Given the description of an element on the screen output the (x, y) to click on. 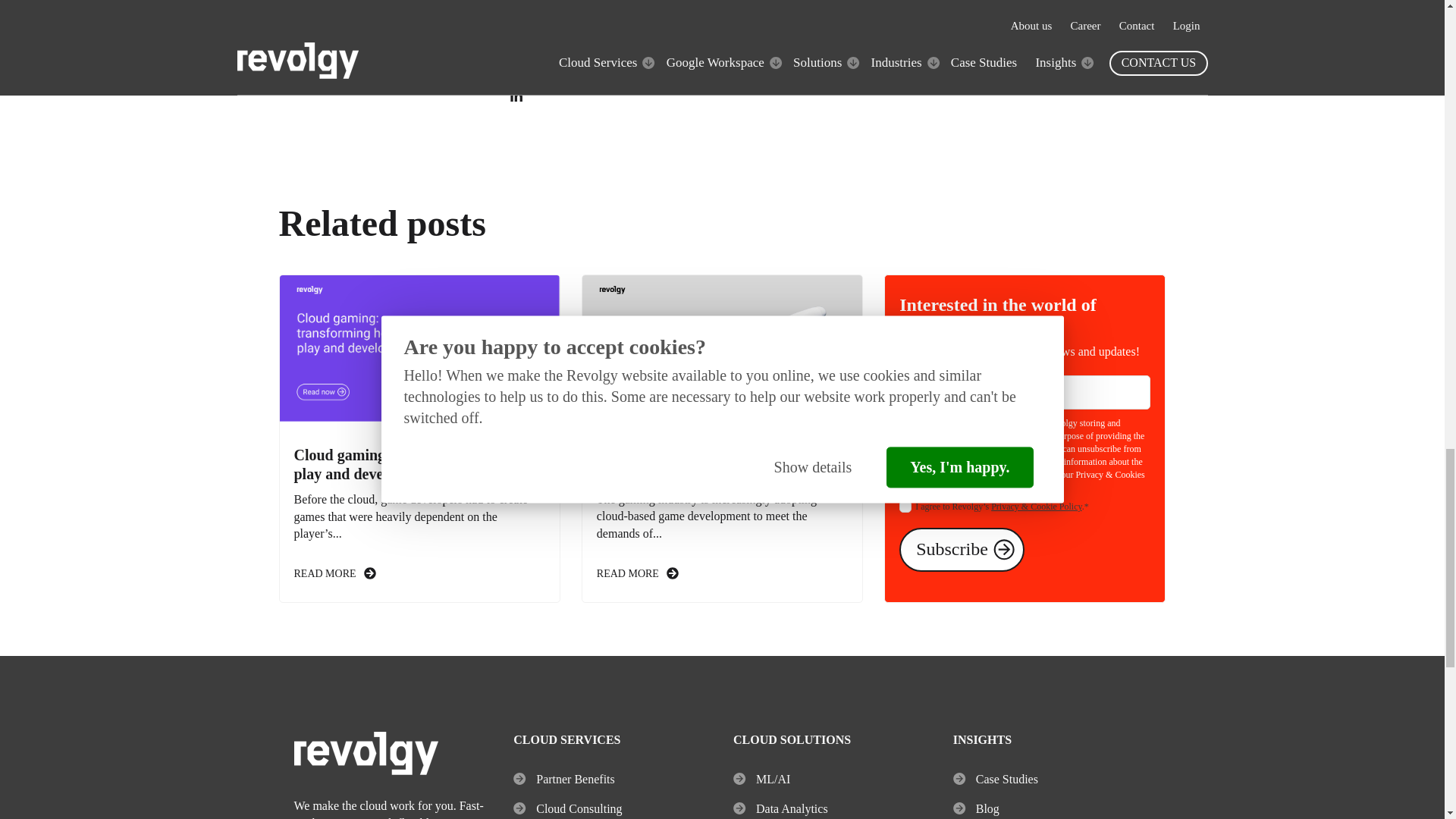
true (905, 506)
Subscribe (962, 549)
